Given the description of an element on the screen output the (x, y) to click on. 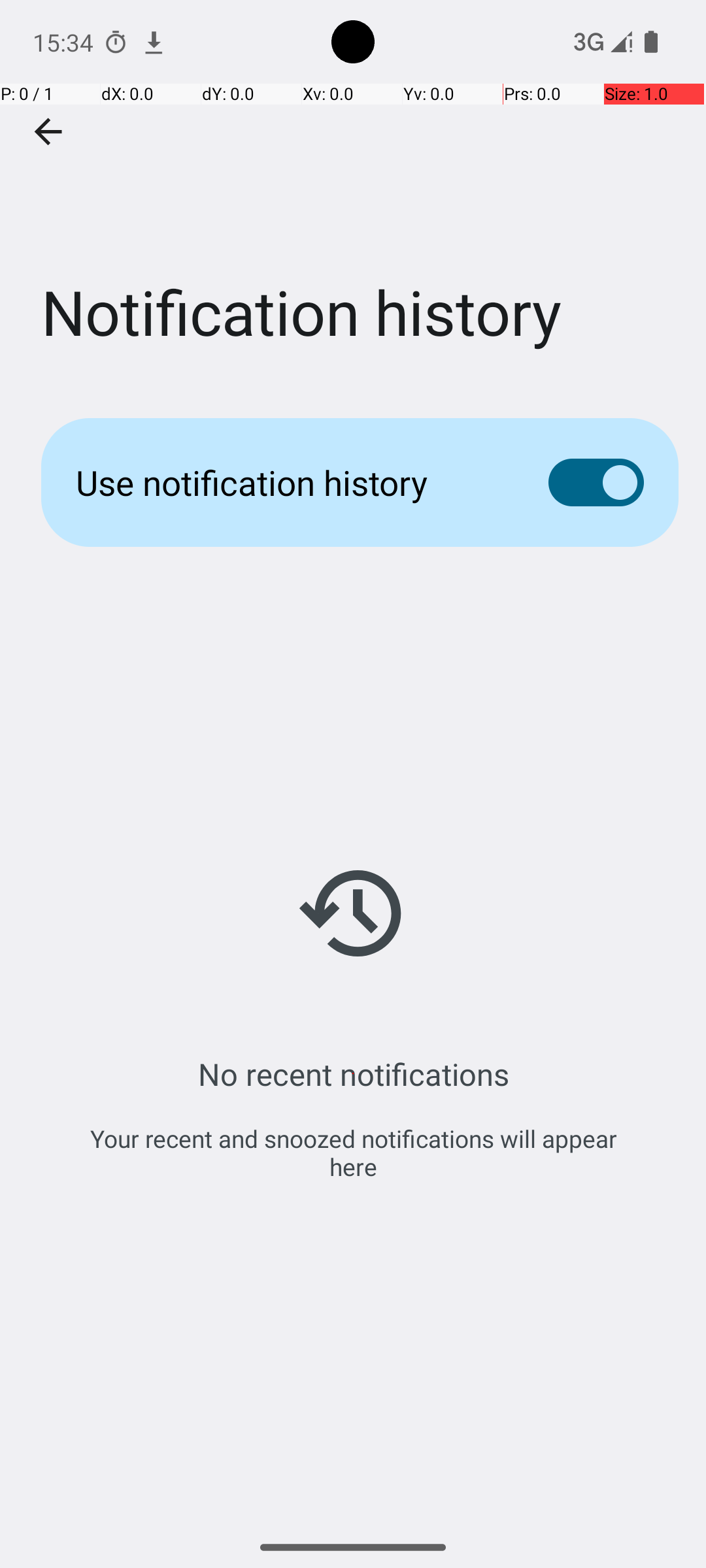
No recent notifications Element type: android.widget.TextView (352, 1073)
Your recent and snoozed notifications will appear here Element type: android.widget.TextView (352, 1152)
